Given the description of an element on the screen output the (x, y) to click on. 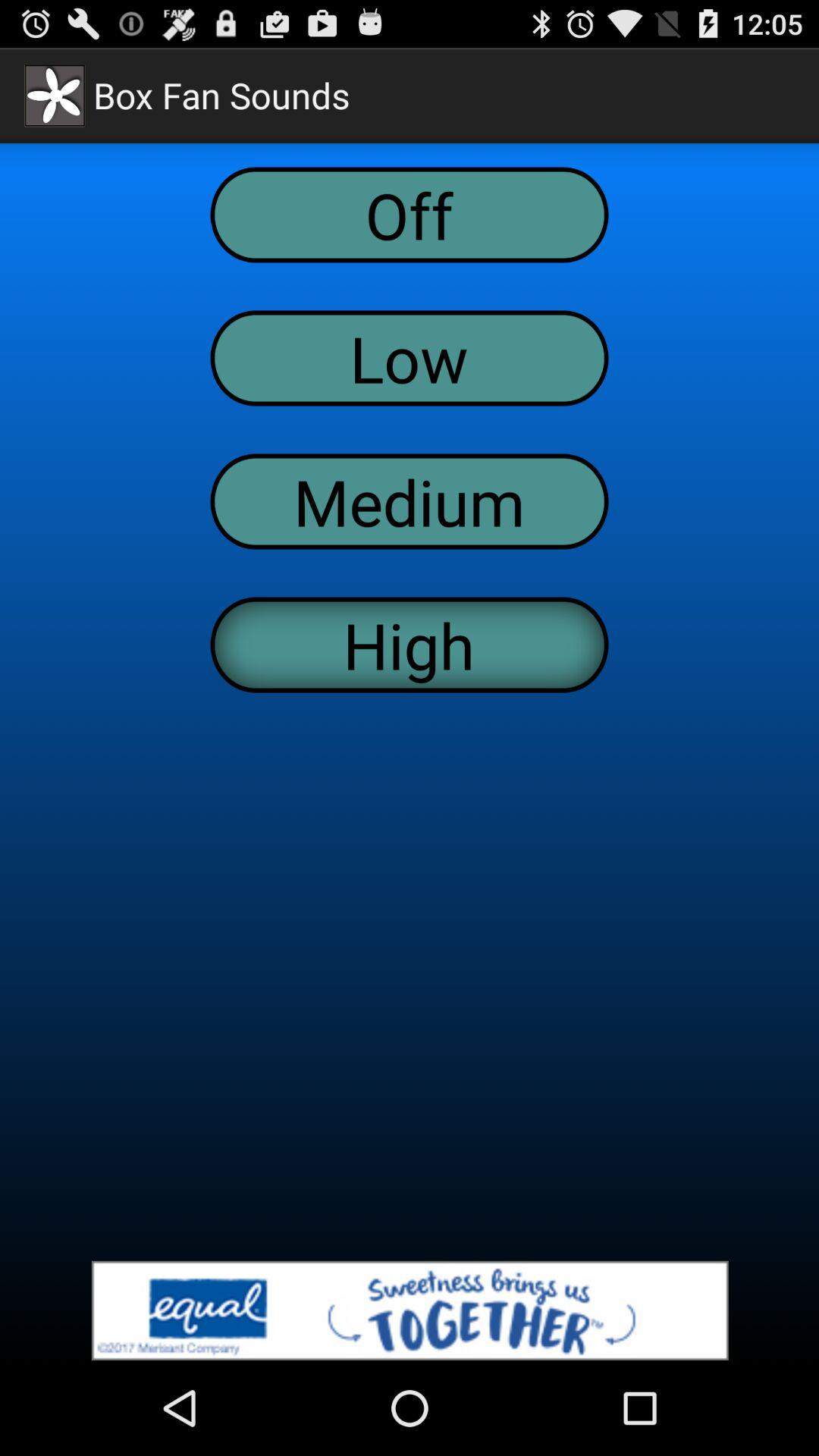
advertisement banner (409, 1310)
